Given the description of an element on the screen output the (x, y) to click on. 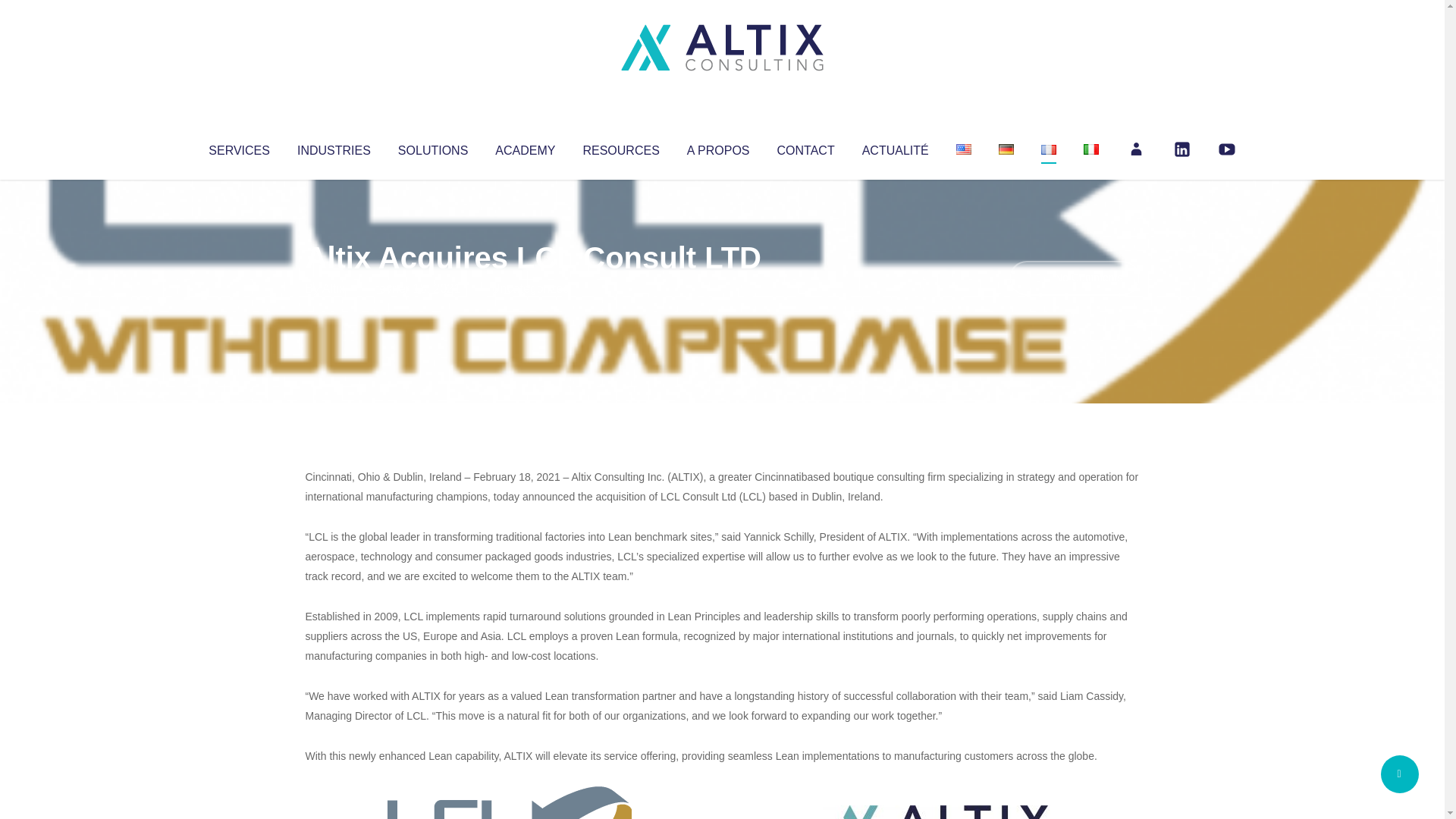
Uncategorized (530, 287)
RESOURCES (620, 146)
No Comments (1073, 278)
Articles par Altix (333, 287)
INDUSTRIES (334, 146)
SOLUTIONS (432, 146)
Altix (333, 287)
A PROPOS (718, 146)
ACADEMY (524, 146)
SERVICES (238, 146)
